Given the description of an element on the screen output the (x, y) to click on. 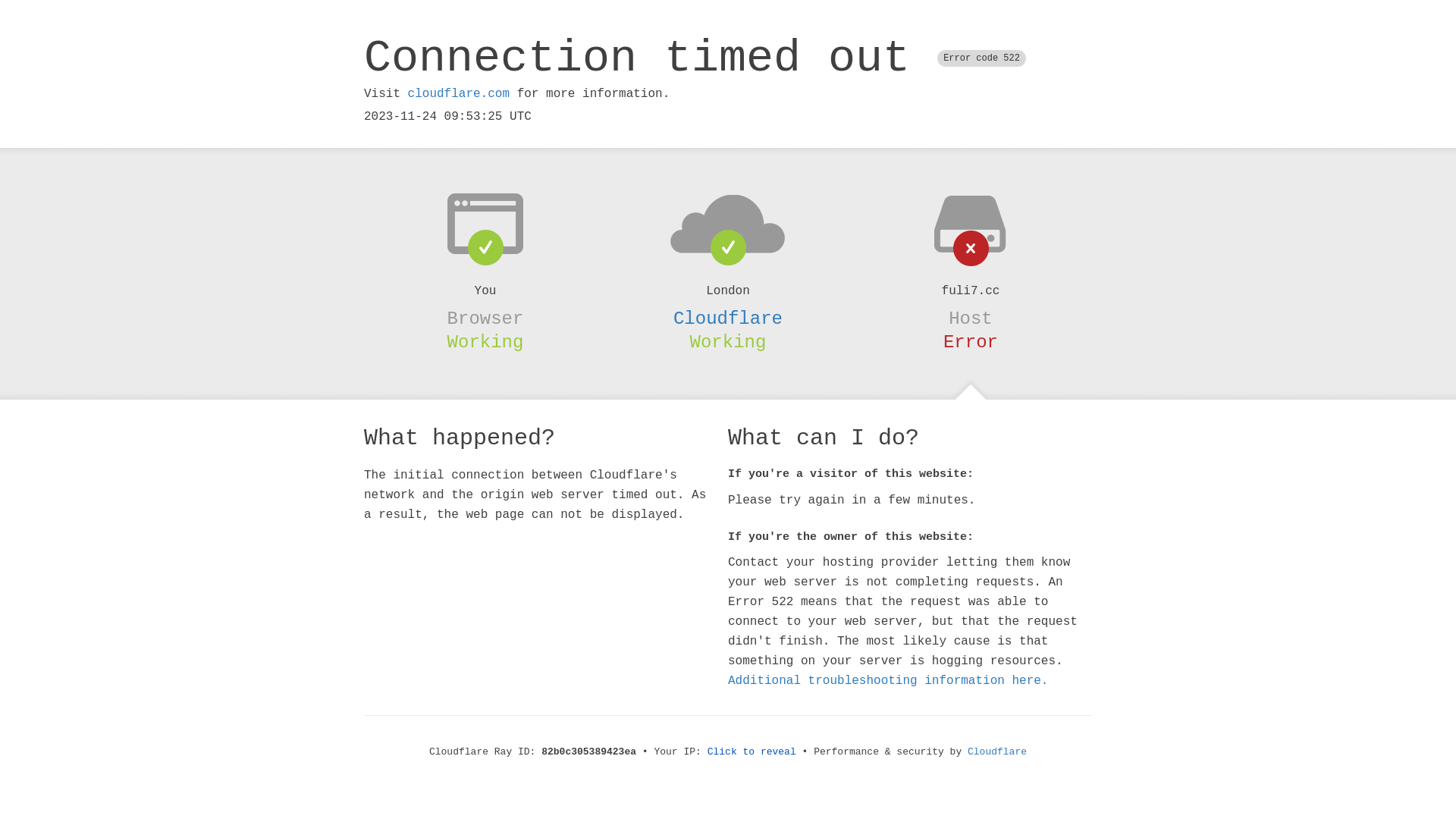
Click to reveal Element type: text (751, 751)
Additional troubleshooting information here. Element type: text (888, 680)
cloudflare.com Element type: text (458, 93)
Cloudflare Element type: text (996, 751)
Cloudflare Element type: text (727, 318)
